Given the description of an element on the screen output the (x, y) to click on. 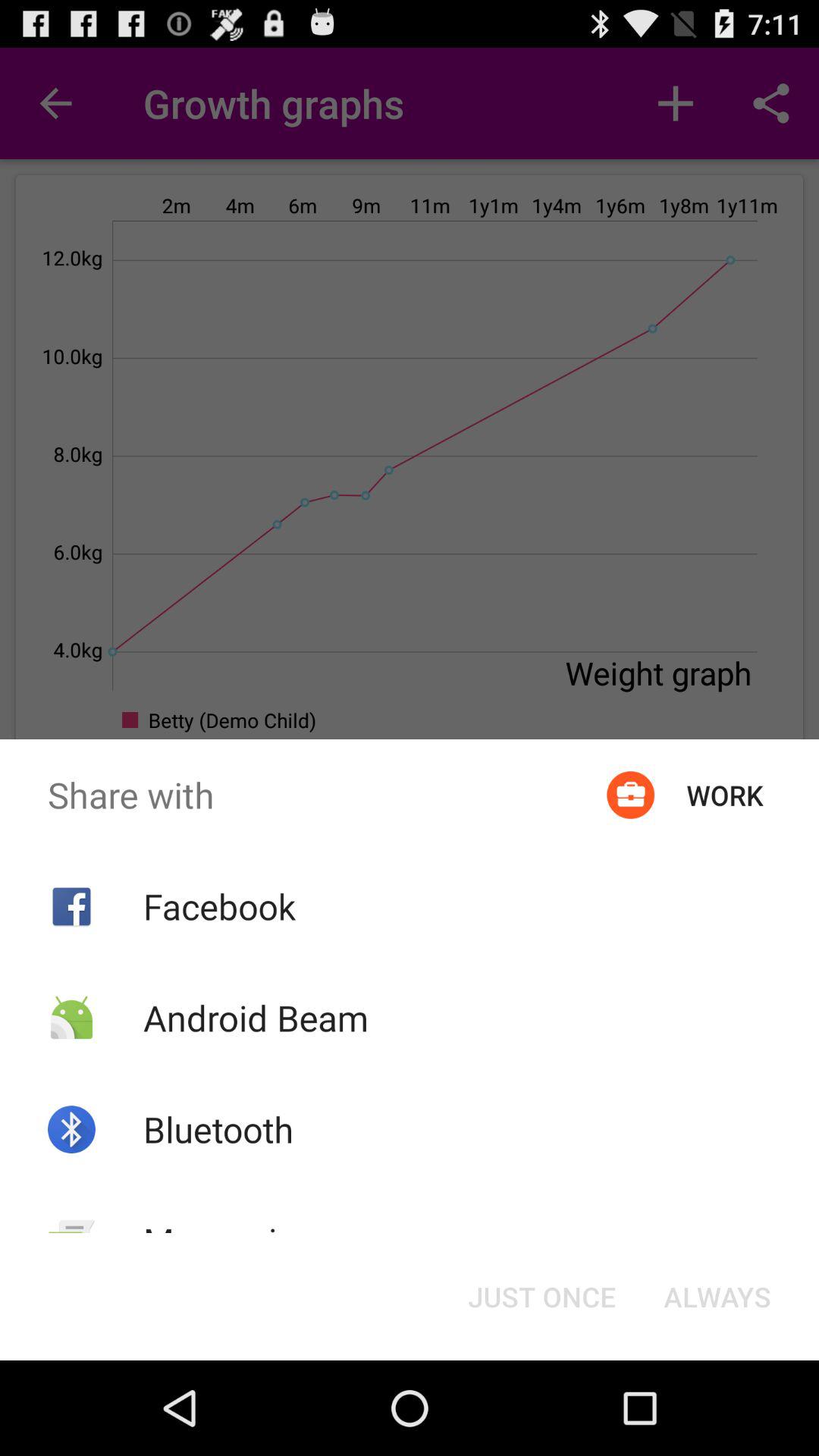
select item next to the just once button (229, 1240)
